Given the description of an element on the screen output the (x, y) to click on. 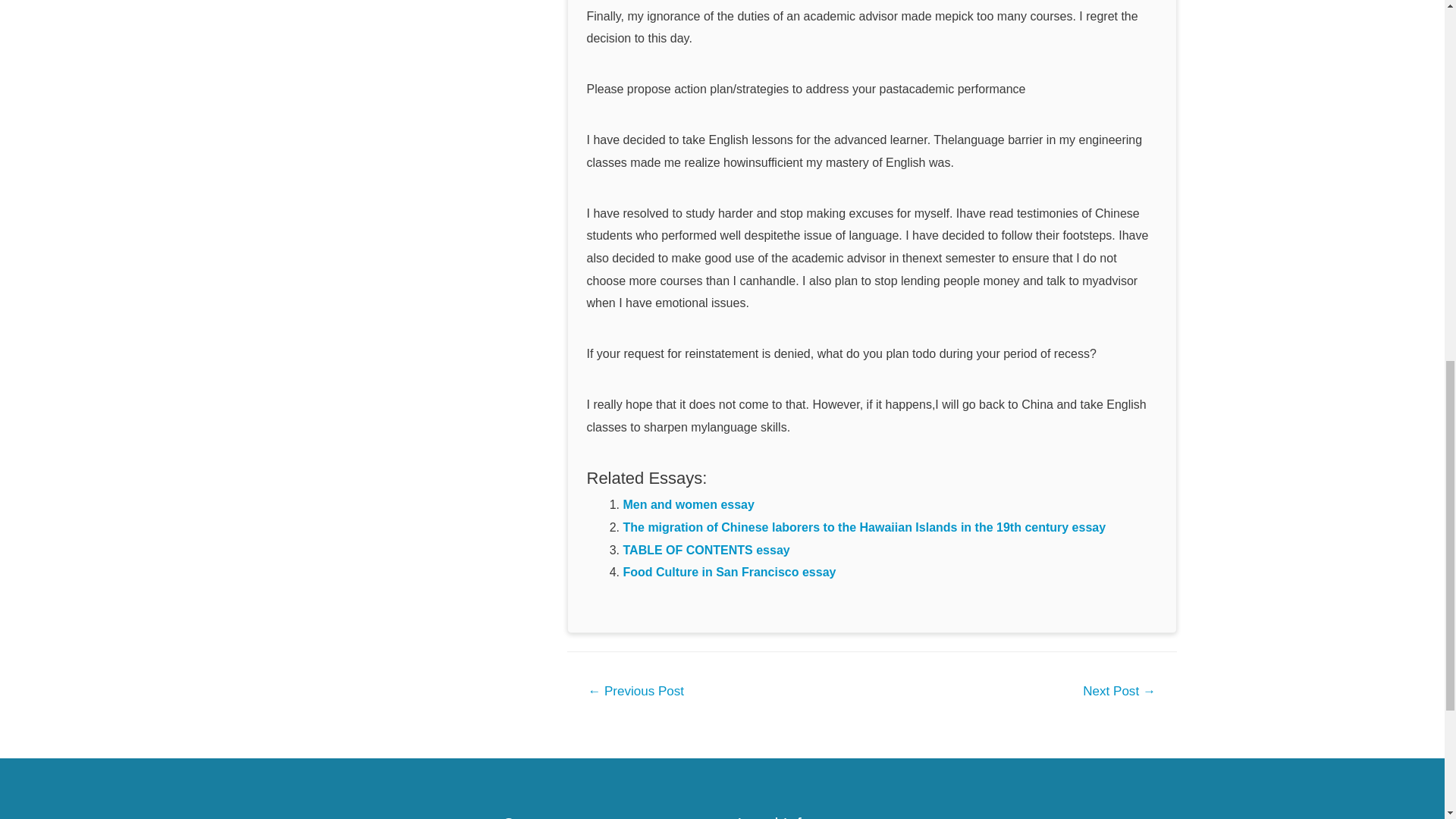
Men and women essay (688, 504)
Food Culture in San Francisco essay (729, 571)
TABLE OF CONTENTS essay (706, 549)
TABLE OF CONTENTS essay (706, 549)
Men and women essay (688, 504)
Food Culture in San Francisco essay (729, 571)
